Given the description of an element on the screen output the (x, y) to click on. 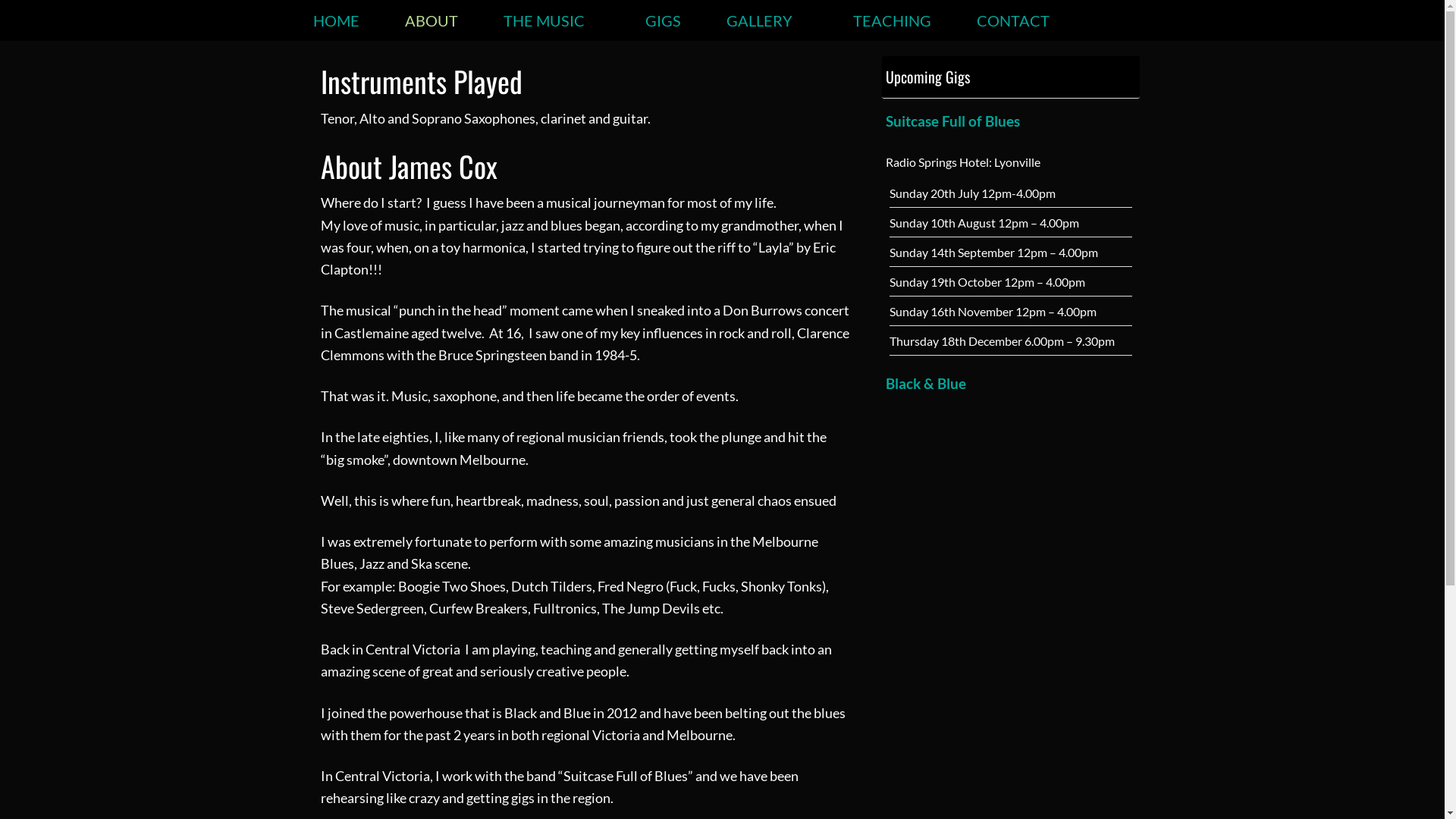
Black & Blue Element type: text (1010, 383)
CONTACT Element type: text (1012, 20)
GIGS Element type: text (661, 20)
ABOUT Element type: text (431, 20)
Suitcase Full of Blues Element type: text (1010, 120)
GALLERY Element type: text (766, 20)
TEACHING Element type: text (891, 20)
THE MUSIC Element type: text (551, 20)
HOME Element type: text (335, 20)
